Given the description of an element on the screen output the (x, y) to click on. 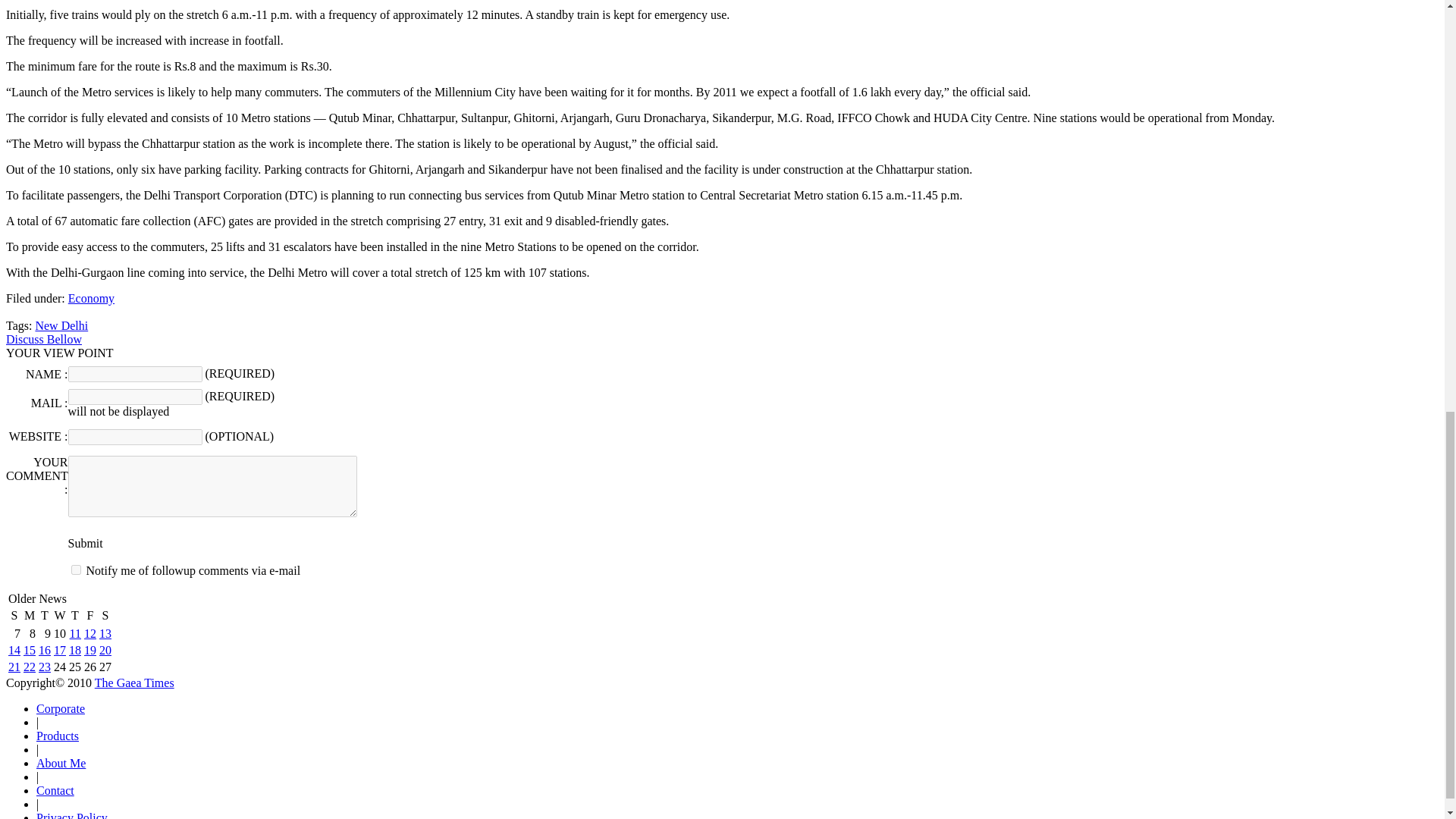
Economy (91, 297)
subscribe (76, 569)
New Delhi (60, 325)
